Given the description of an element on the screen output the (x, y) to click on. 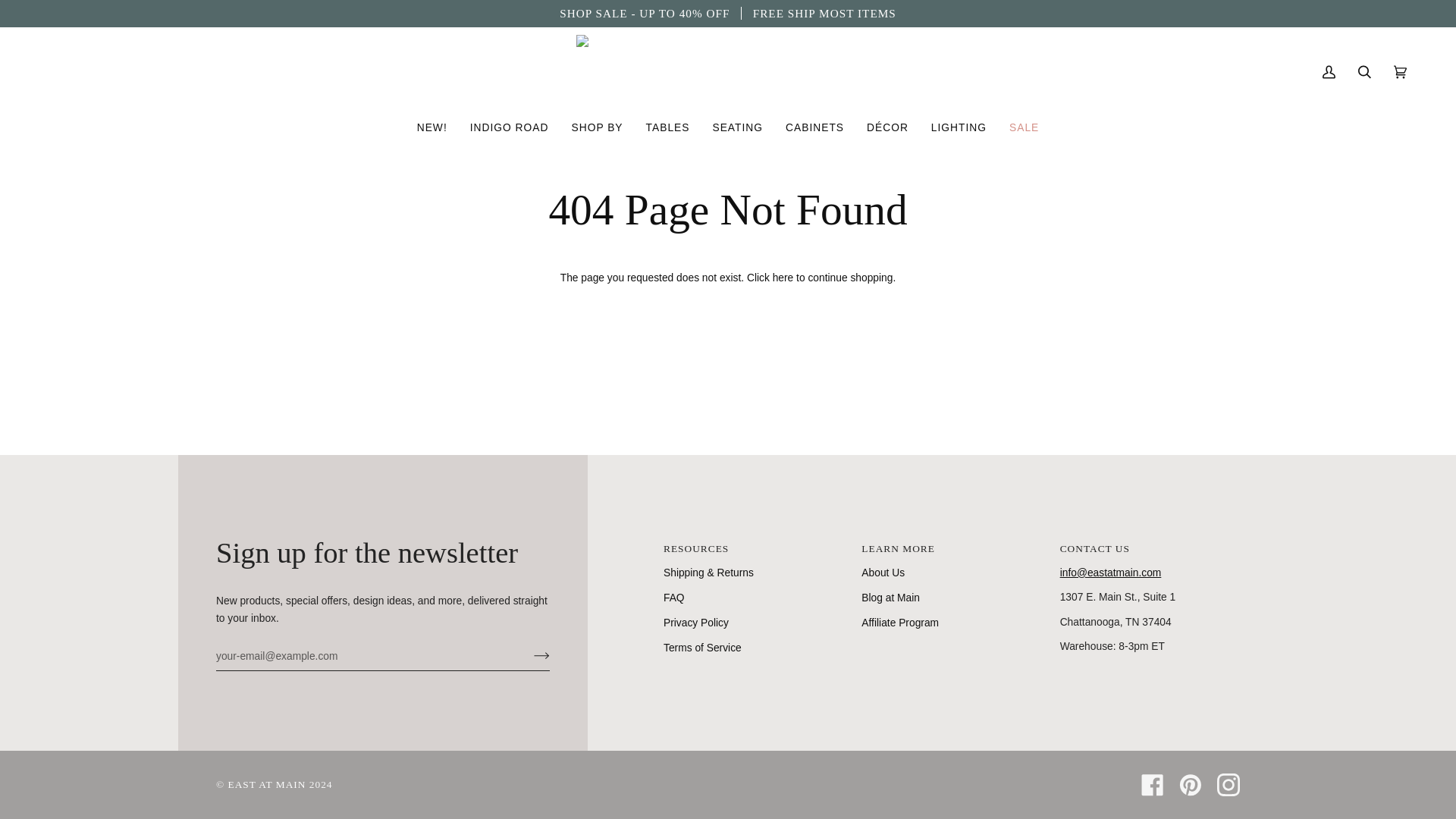
NEW! (432, 127)
SEATING (737, 127)
INDIGO ROAD (509, 127)
Pinterest (1190, 784)
CABINETS (815, 127)
Instagram (1228, 784)
Facebook (1152, 784)
TABLES (667, 127)
SHOP BY (596, 127)
